Given the description of an element on the screen output the (x, y) to click on. 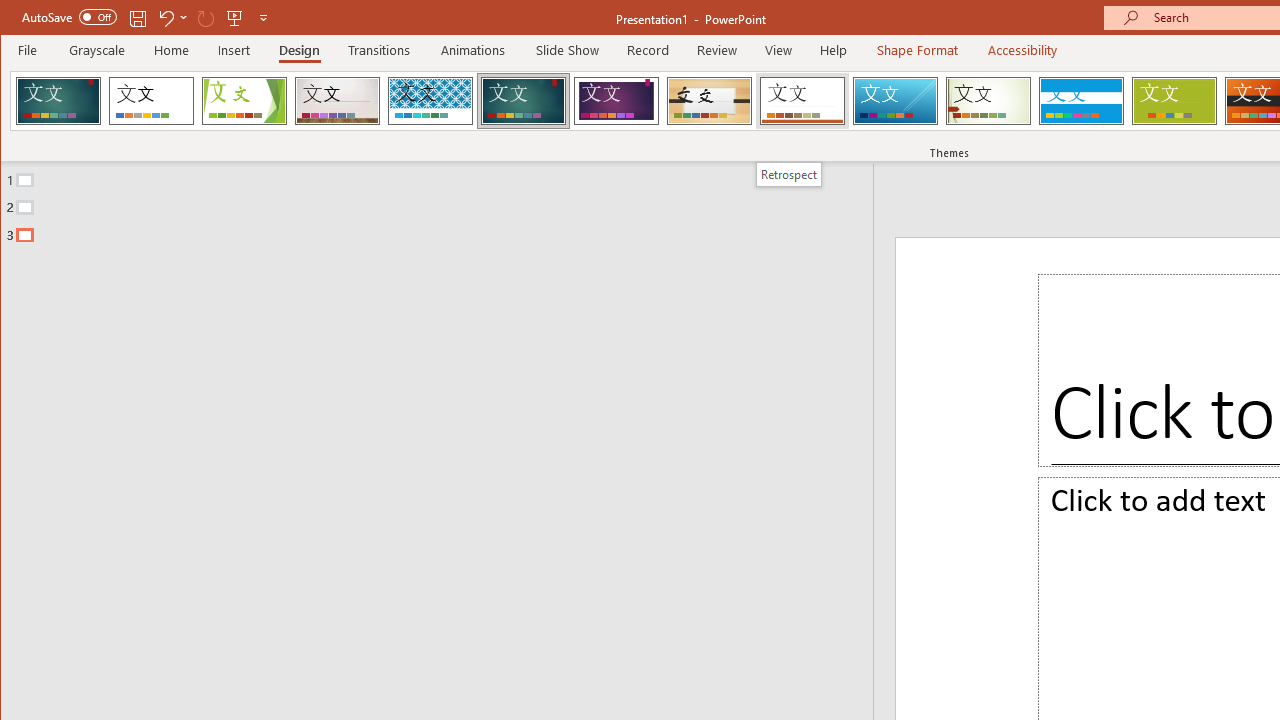
Slice (895, 100)
Dividend (57, 100)
Ion Boardroom (616, 100)
Facet (244, 100)
Ion (523, 100)
